Given the description of an element on the screen output the (x, y) to click on. 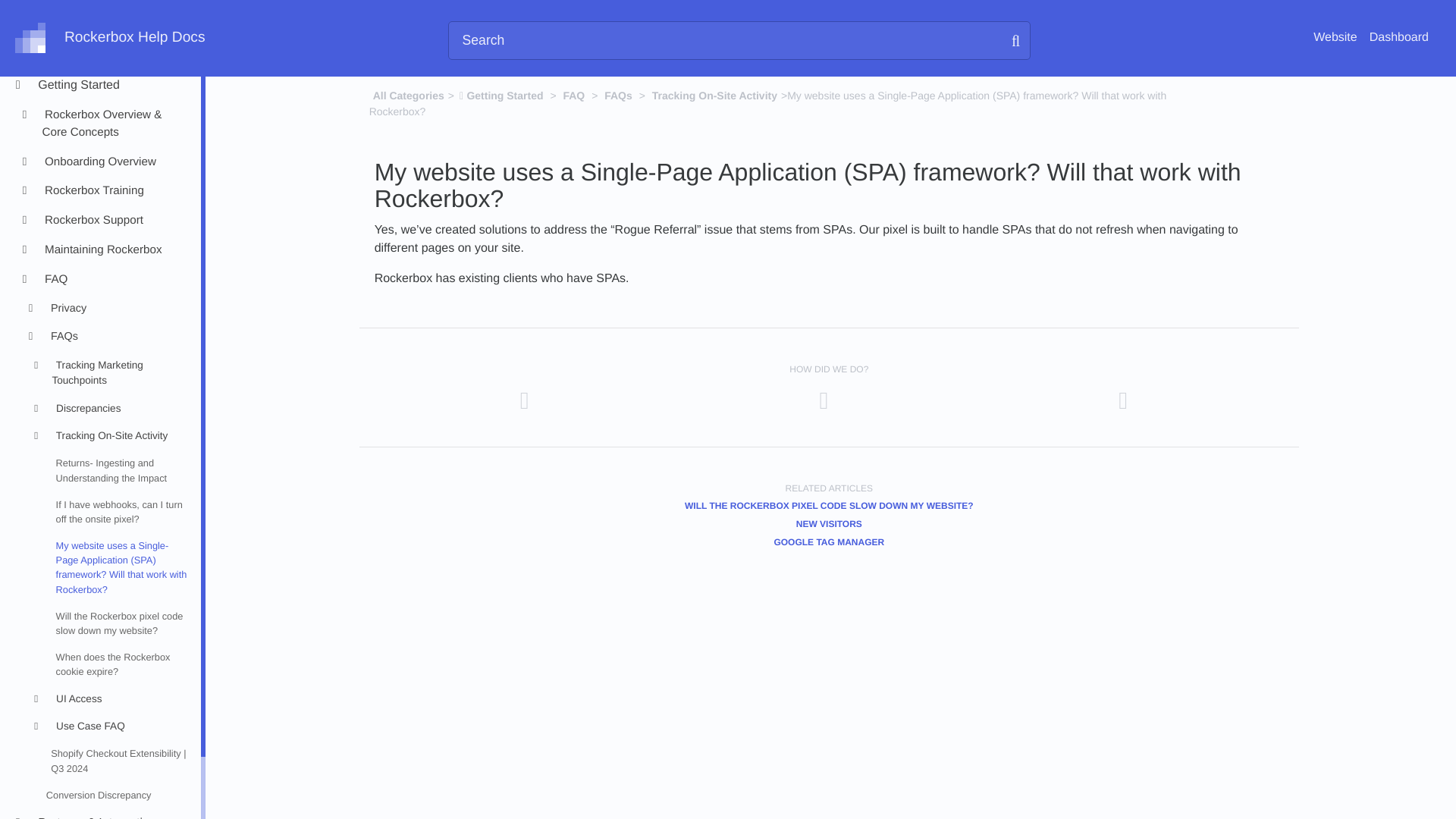
Rockerbox Help Docs (109, 37)
Website (1334, 37)
Dashboard (1399, 37)
Onboarding Overview (112, 162)
Getting Started (112, 85)
